Given the description of an element on the screen output the (x, y) to click on. 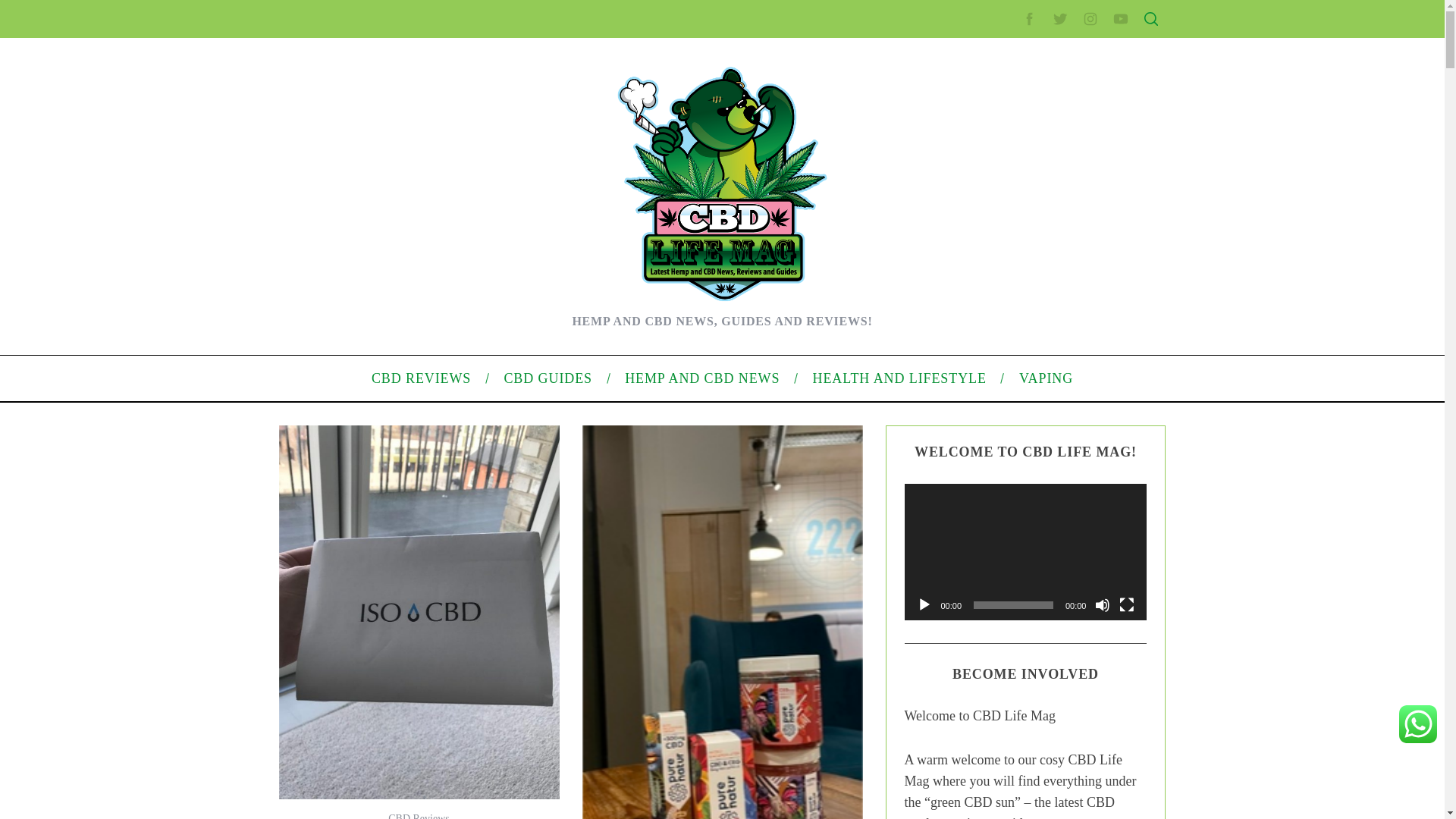
ADMINISTRATOR (417, 118)
August 2020 (996, 432)
Latest Article (996, 172)
Disclaimer (990, 354)
Log in (980, 588)
published here (453, 411)
Search (1050, 85)
Search (1050, 85)
Privacy Policy (999, 306)
Search (1050, 85)
Search for: (1049, 47)
RSS (977, 612)
Terms of Use (996, 330)
DMCA Policy (996, 282)
Blog (976, 510)
